Given the description of an element on the screen output the (x, y) to click on. 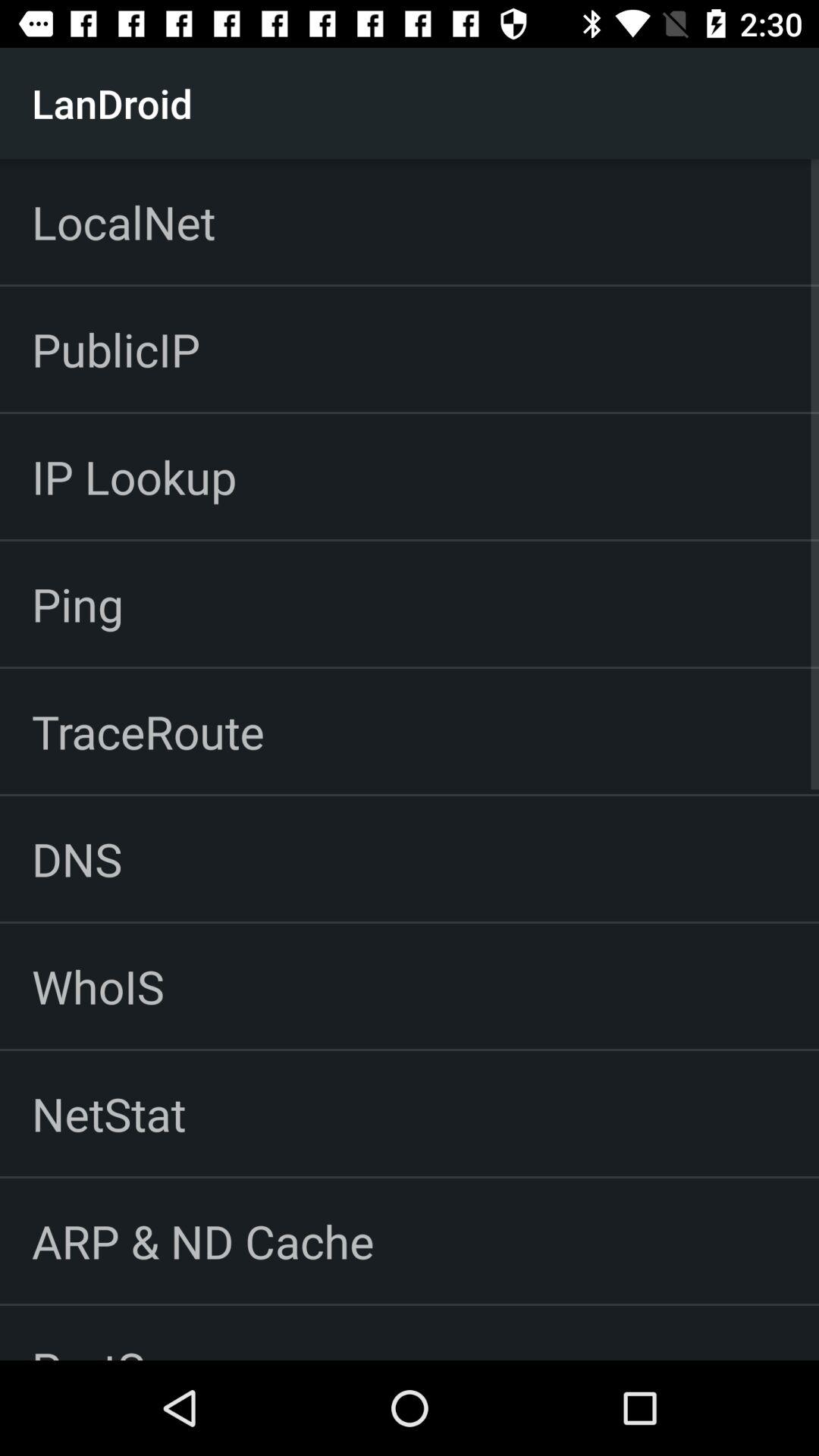
choose the item above the portscan (203, 1240)
